Given the description of an element on the screen output the (x, y) to click on. 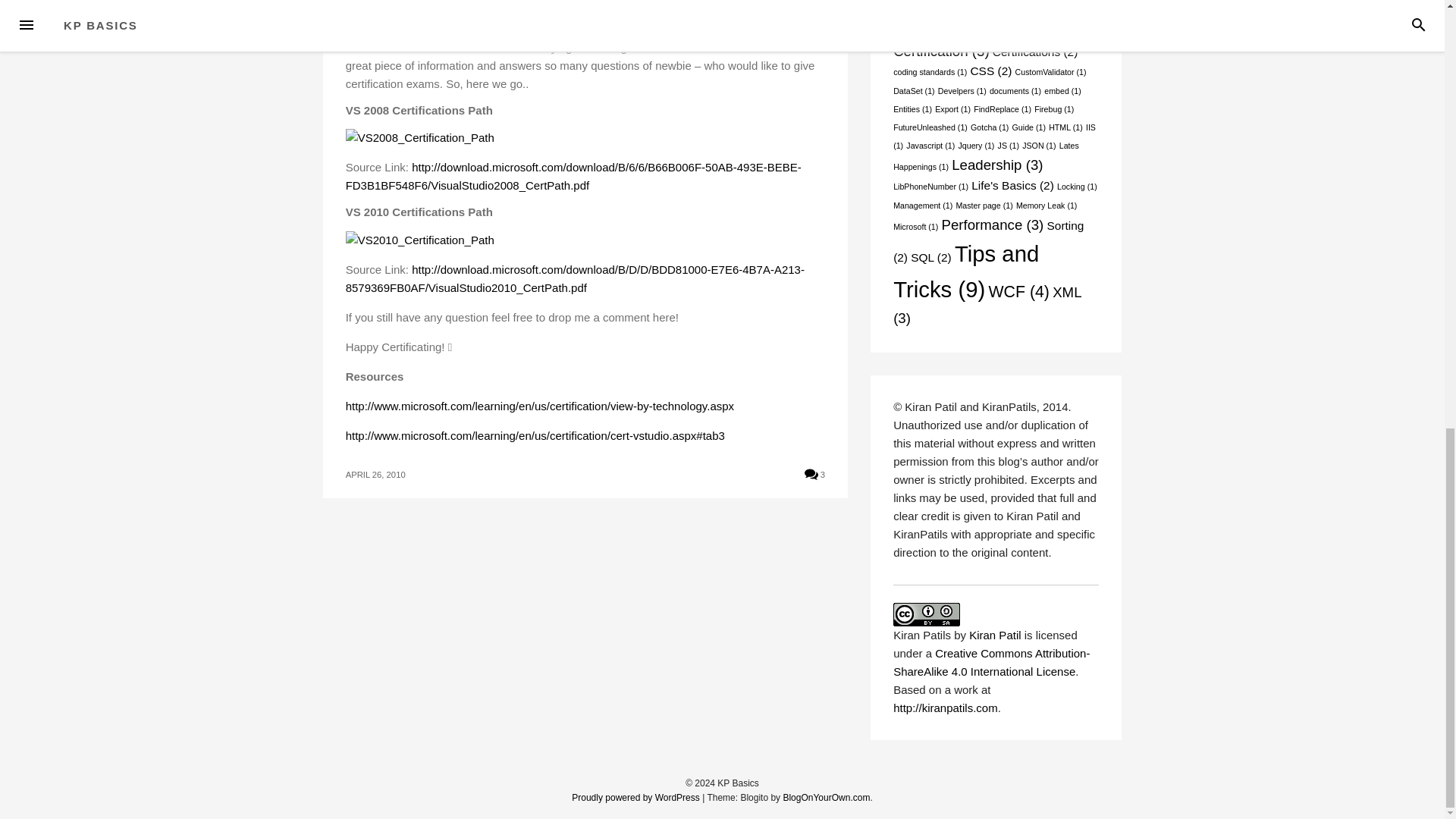
Milestone MCPD Exam Cleared (710, 29)
New Milestone MCTS Web 70-528 (433, 47)
